Given the description of an element on the screen output the (x, y) to click on. 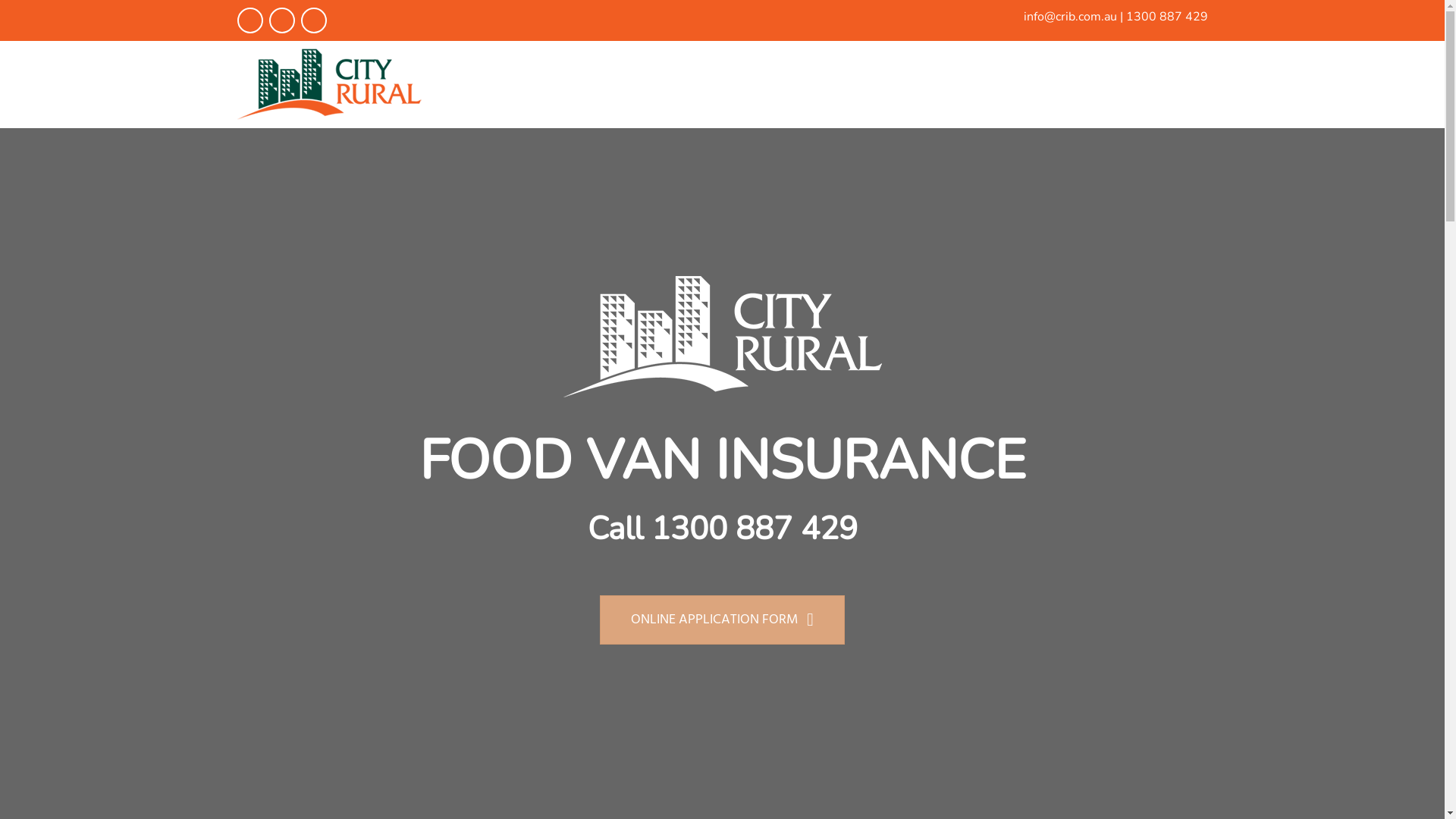
ONLINE APPLICATION FORM Element type: text (721, 619)
Skip to main content Element type: text (0, 0)
city-rural-white-logo Element type: hover (721, 336)
info@crib.com.au Element type: text (1070, 16)
FOOD VAN INSURANCE BY CITY RURAL INSURANCE BROKER Element type: text (438, 133)
